Given the description of an element on the screen output the (x, y) to click on. 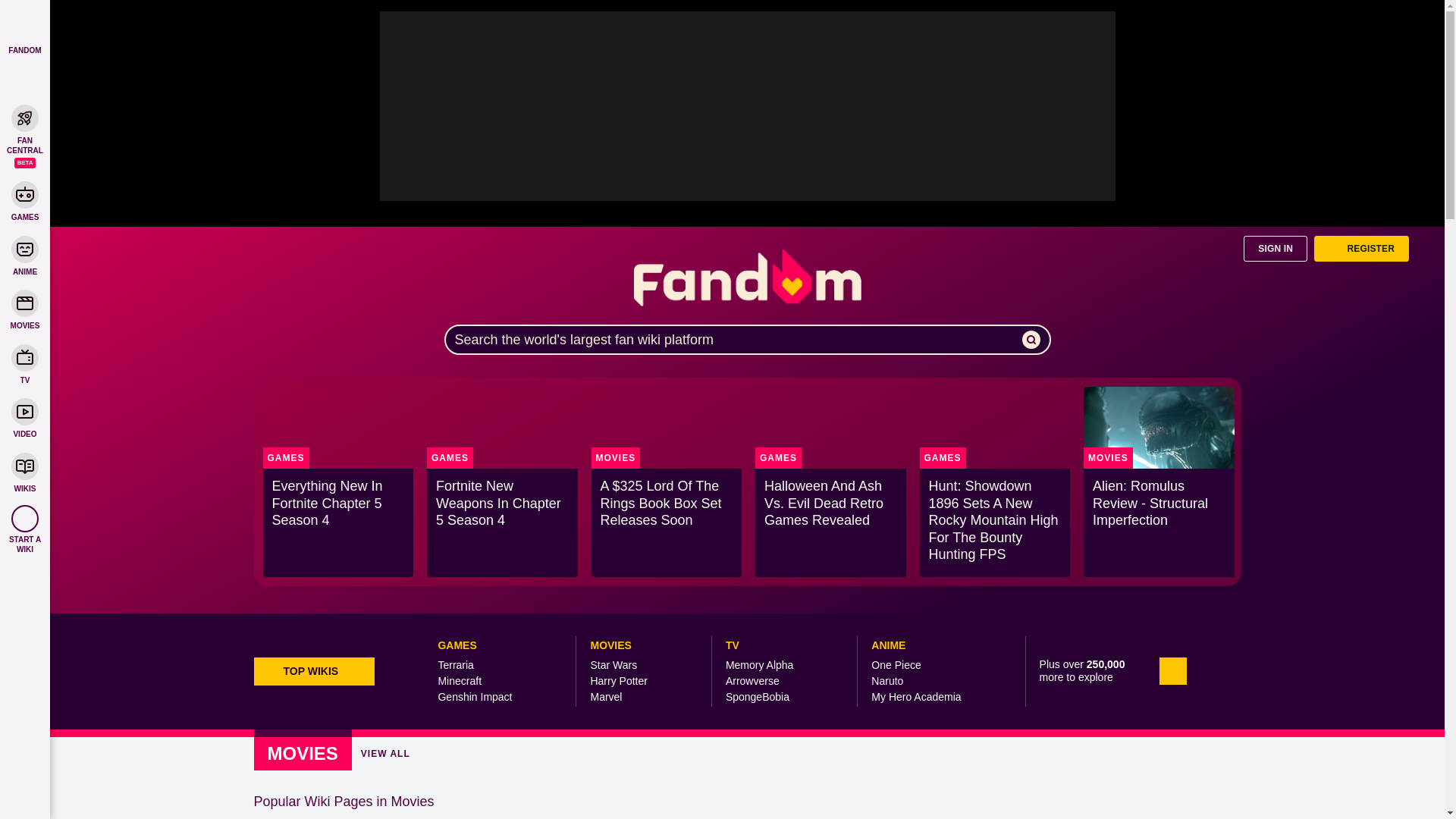
START A WIKI (24, 529)
FANDOM (24, 30)
ANIME (24, 254)
GAMES (24, 200)
TV (24, 364)
MOVIES (24, 309)
Search (25, 78)
VIDEO (24, 417)
SIGN IN (1275, 248)
